Given the description of an element on the screen output the (x, y) to click on. 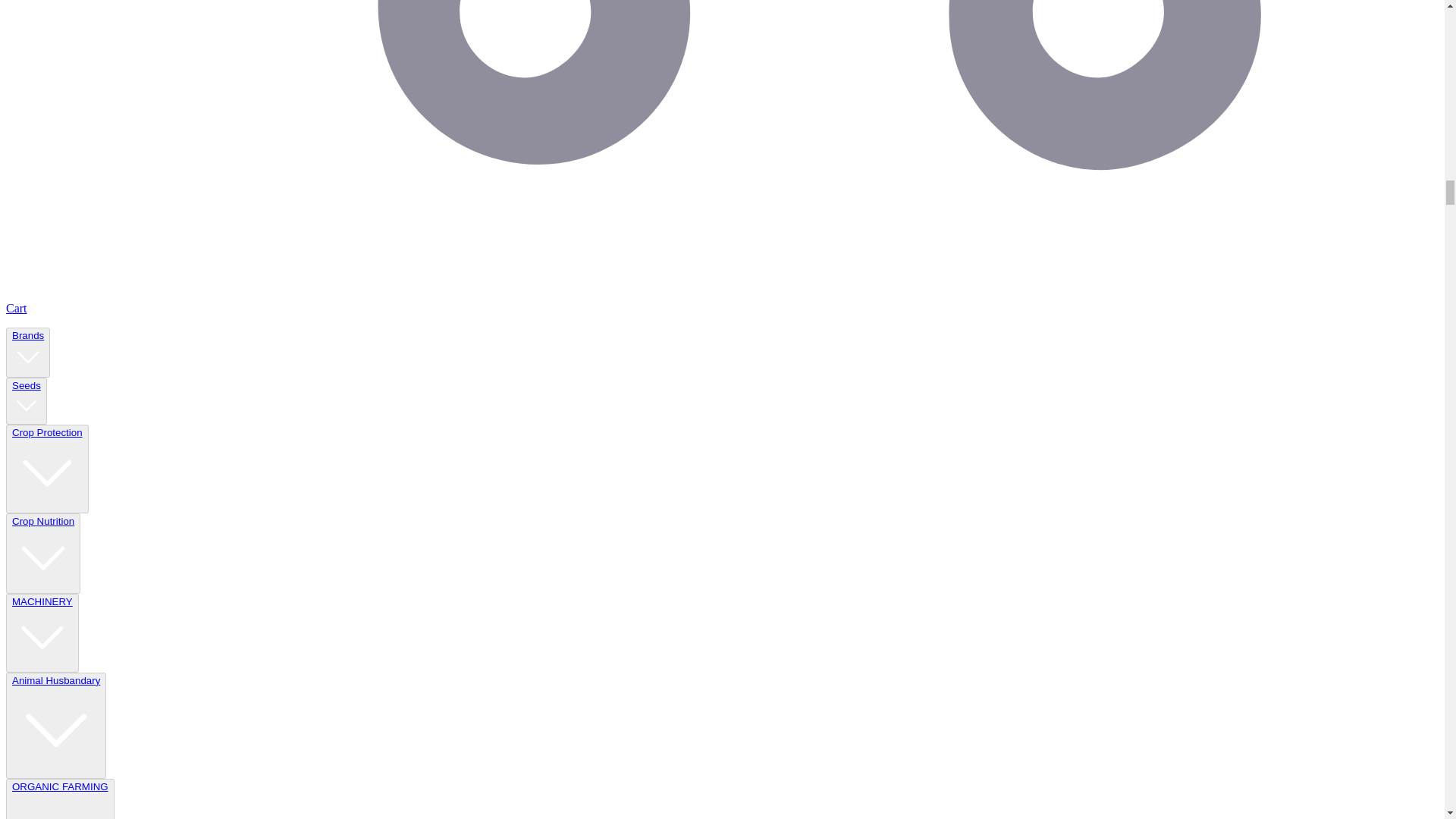
Crop Protection (46, 469)
Crop Nutrition (42, 553)
MACHINERY (41, 632)
Animal Husbandary (55, 725)
ORGANIC FARMING (59, 800)
ORGANIC FARMING (60, 798)
